Given the description of an element on the screen output the (x, y) to click on. 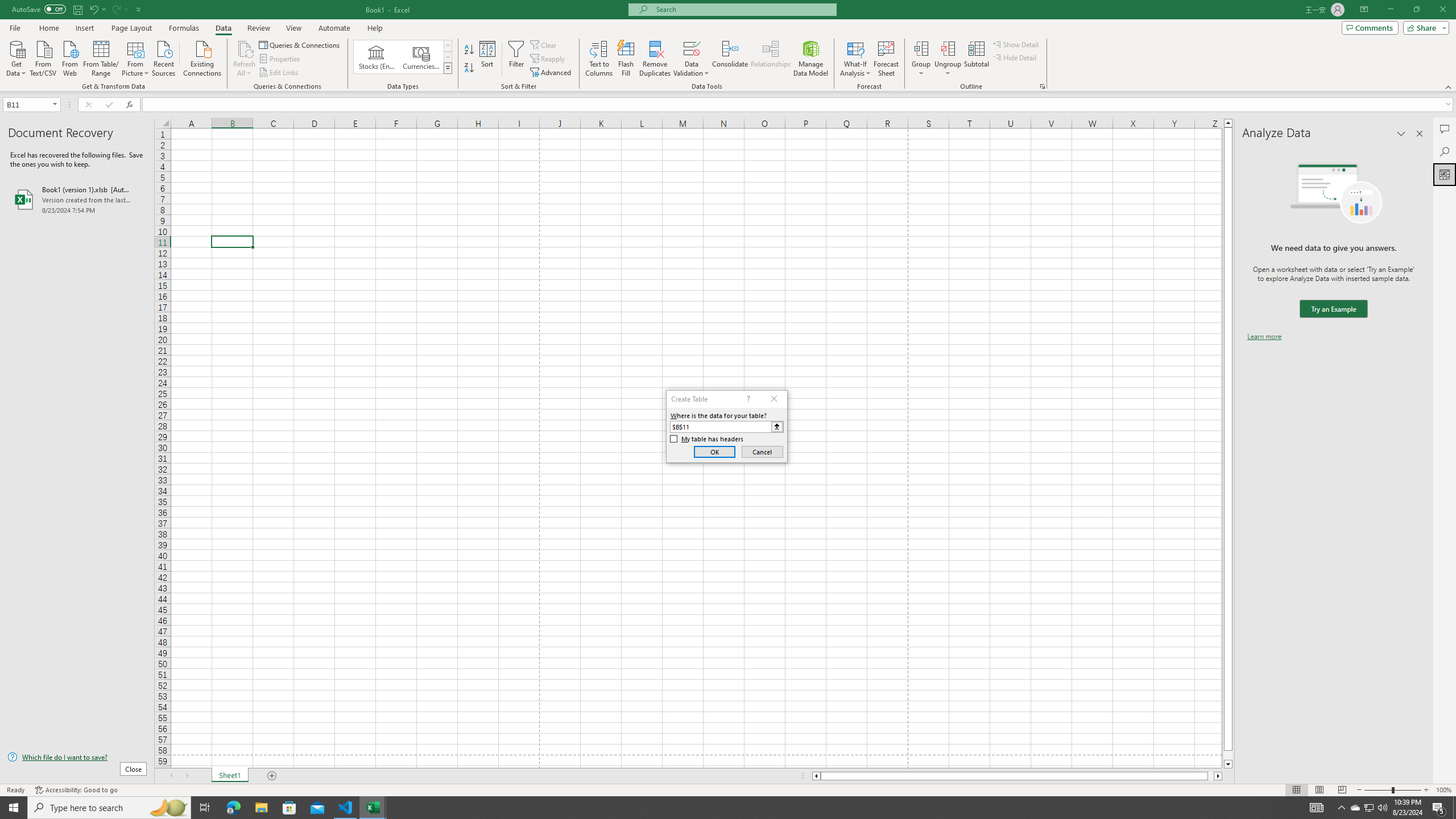
Data Validation... (691, 48)
Properties (280, 58)
Currencies (English) (420, 56)
From Text/CSV (43, 57)
Refresh All (244, 58)
Consolidate... (729, 58)
Accessibility Checker Accessibility: Good to go (76, 790)
Restore Down (1416, 9)
Stocks (English) (375, 56)
